Given the description of an element on the screen output the (x, y) to click on. 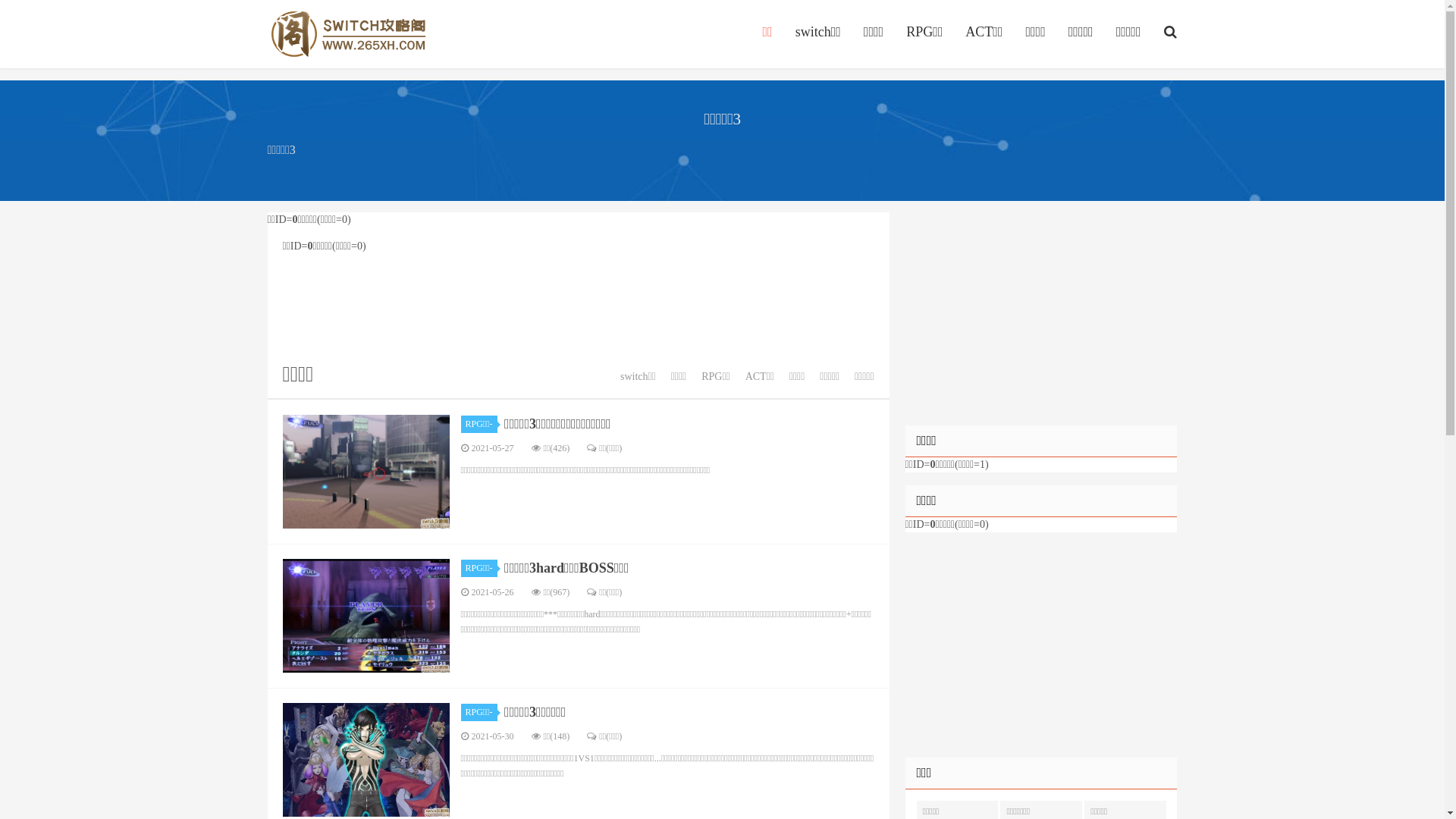
Advertisement Element type: hover (1039, 318)
Advertisement Element type: hover (1039, 650)
Advertisement Element type: hover (577, 306)
